Given the description of an element on the screen output the (x, y) to click on. 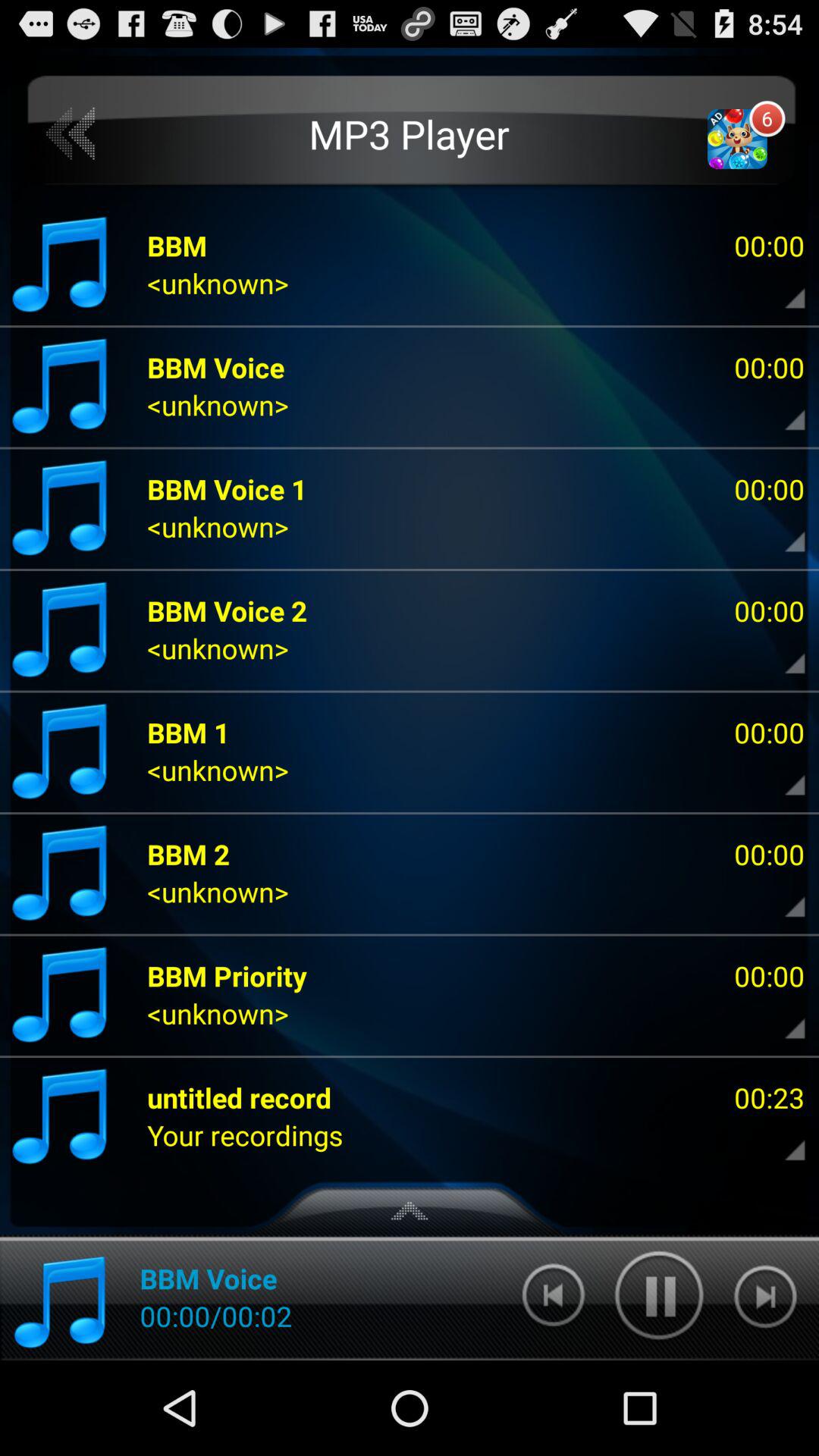
turn off the icon next to the mp3 player item (71, 133)
